Given the description of an element on the screen output the (x, y) to click on. 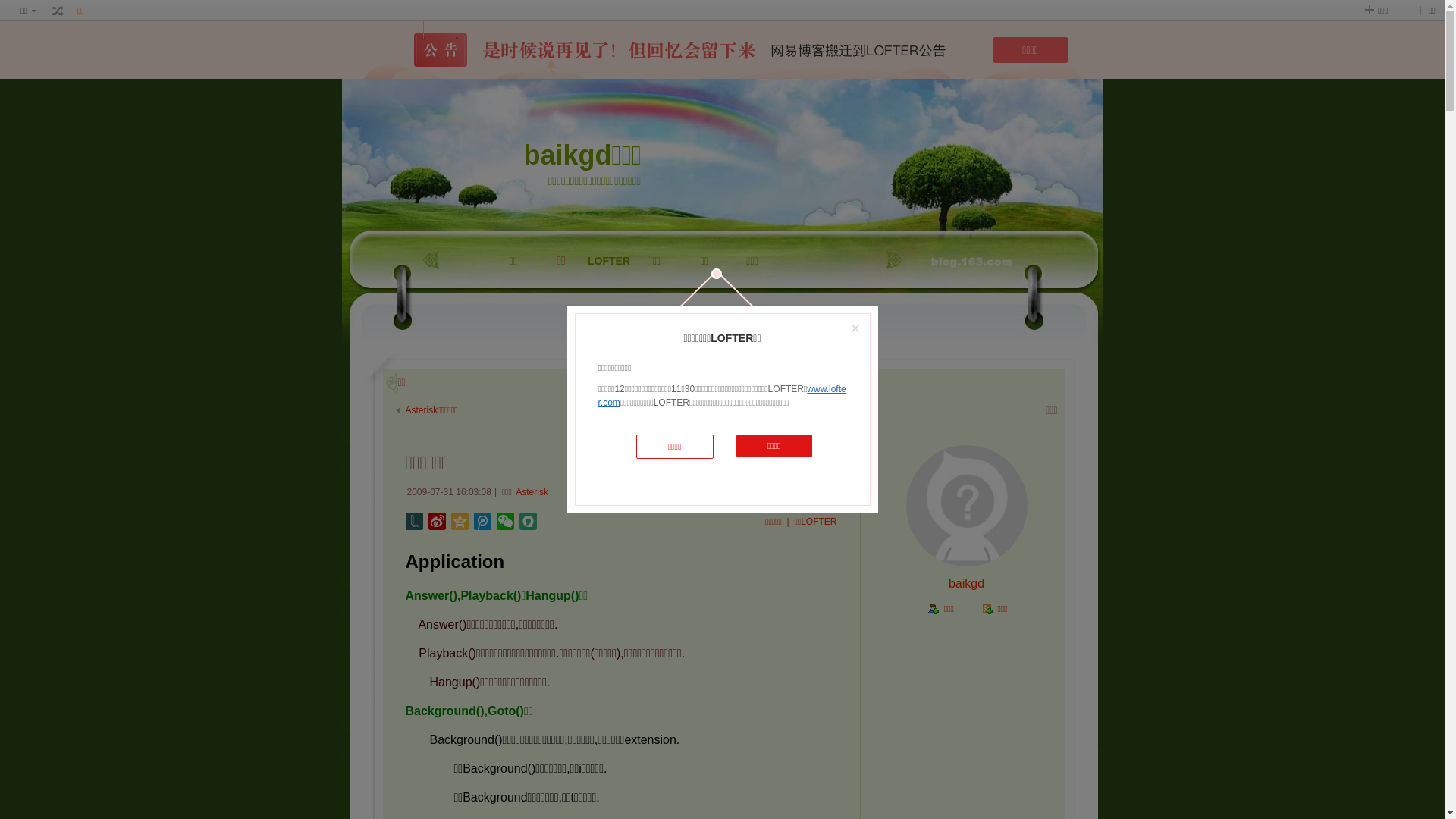
Asterisk Element type: text (531, 491)
baikgd Element type: text (966, 583)
www.lofter.com Element type: text (721, 395)
  Element type: text (58, 10)
LOFTER Element type: text (609, 298)
